Given the description of an element on the screen output the (x, y) to click on. 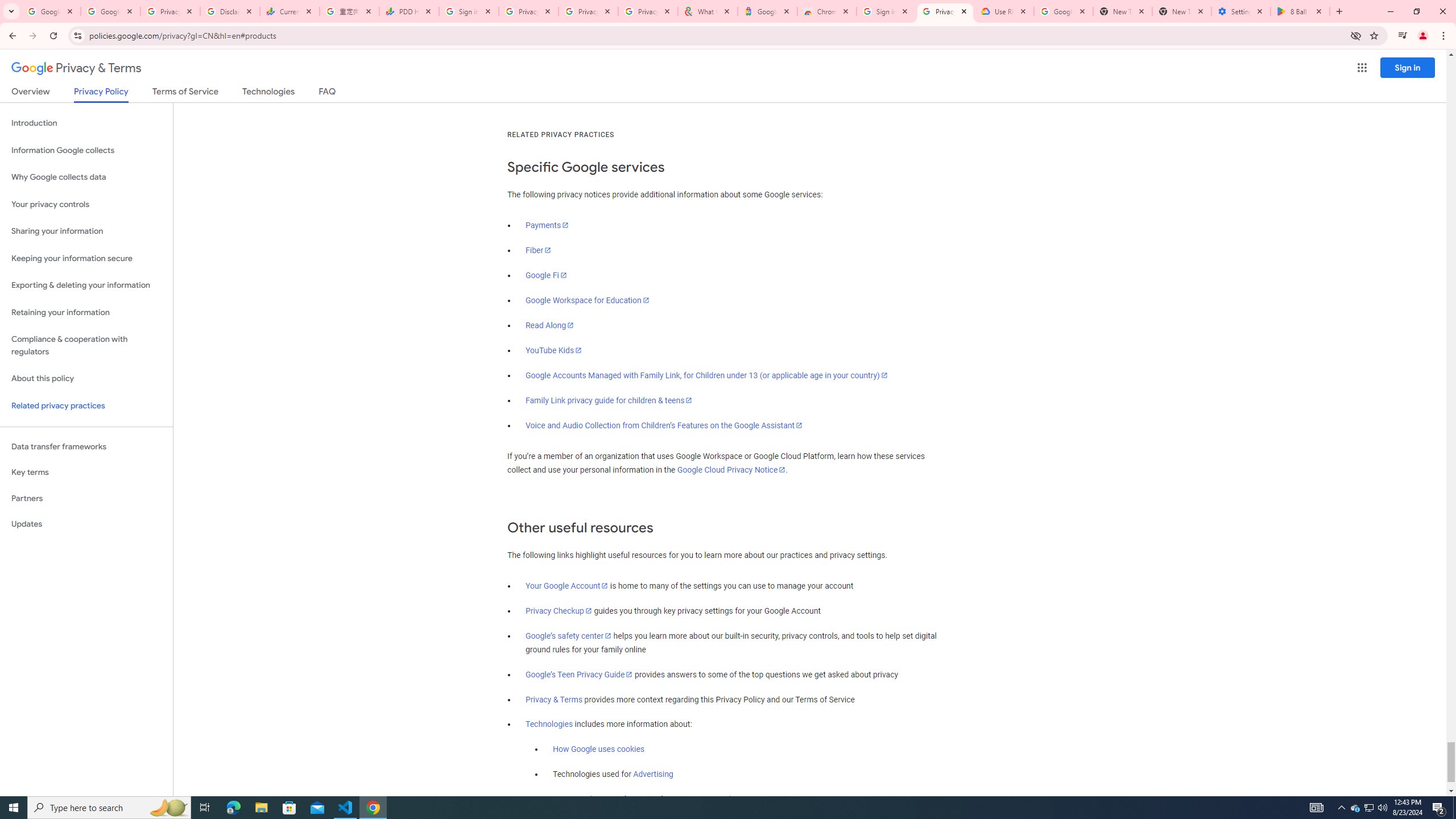
Retaining your information (86, 312)
Payments (547, 225)
Fiber (538, 249)
Privacy Checkup (647, 11)
